Given the description of an element on the screen output the (x, y) to click on. 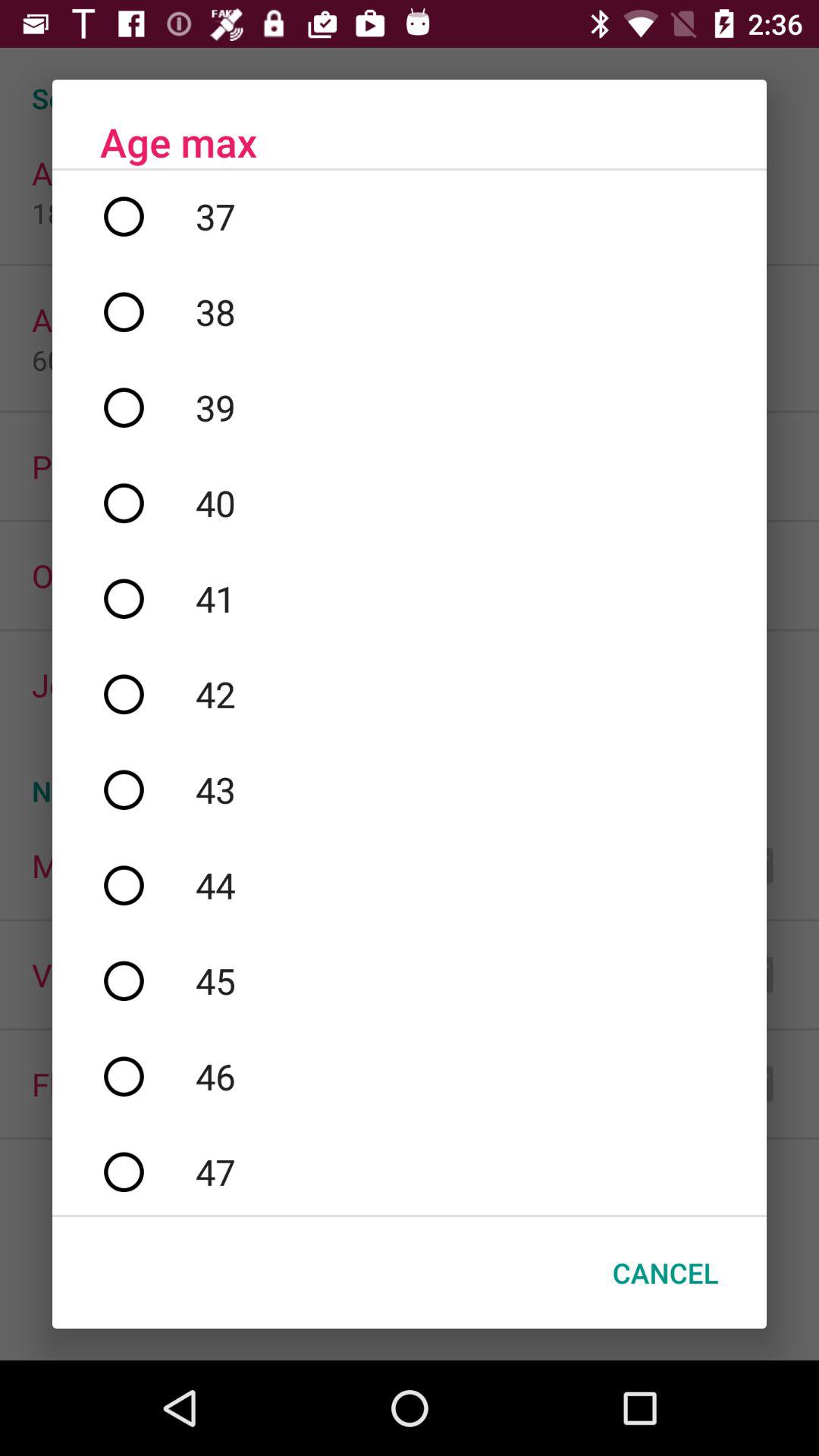
press cancel item (665, 1272)
